Given the description of an element on the screen output the (x, y) to click on. 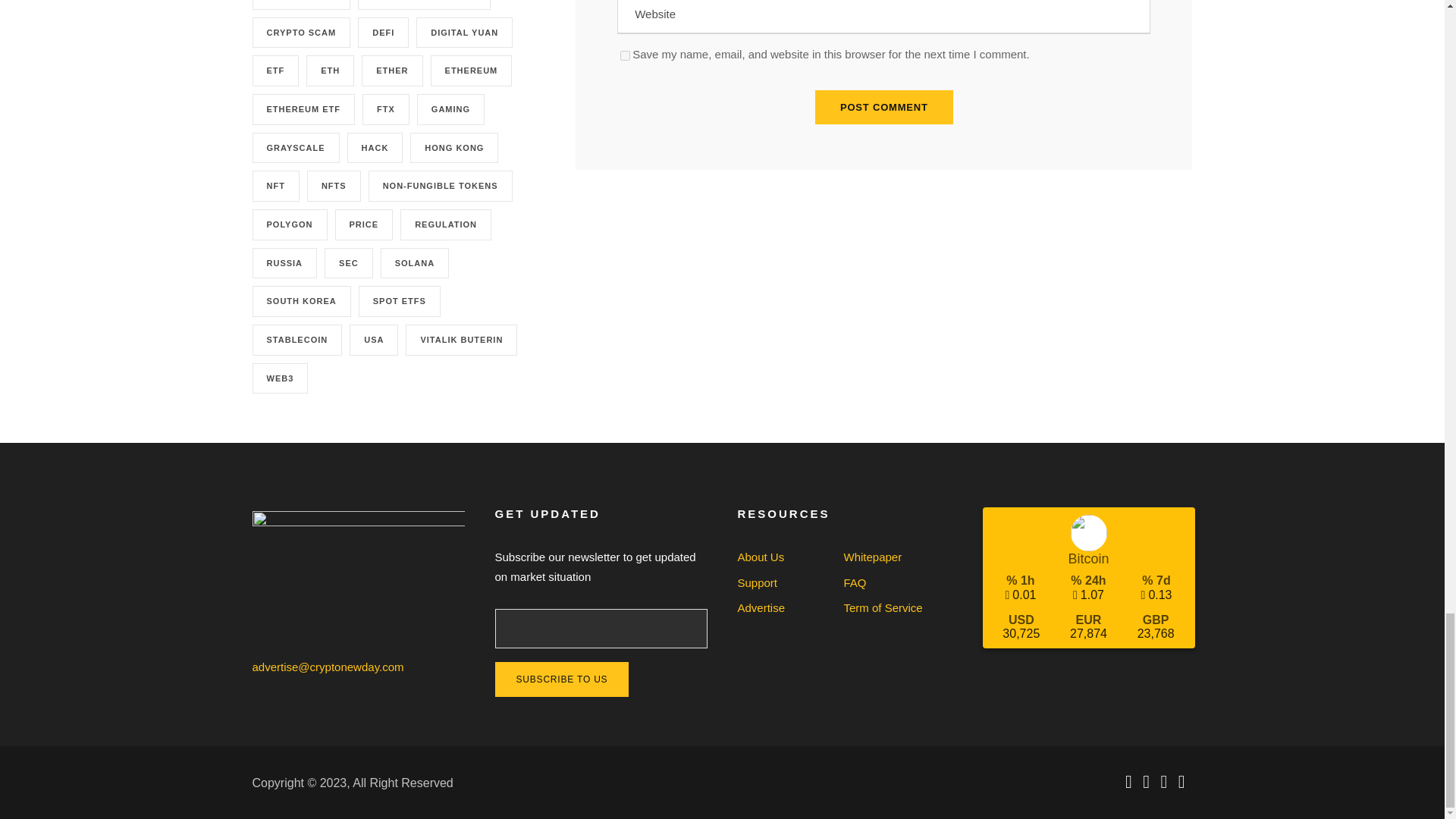
yes (625, 55)
Post Comment (884, 107)
Subscribe to us (561, 678)
